Given the description of an element on the screen output the (x, y) to click on. 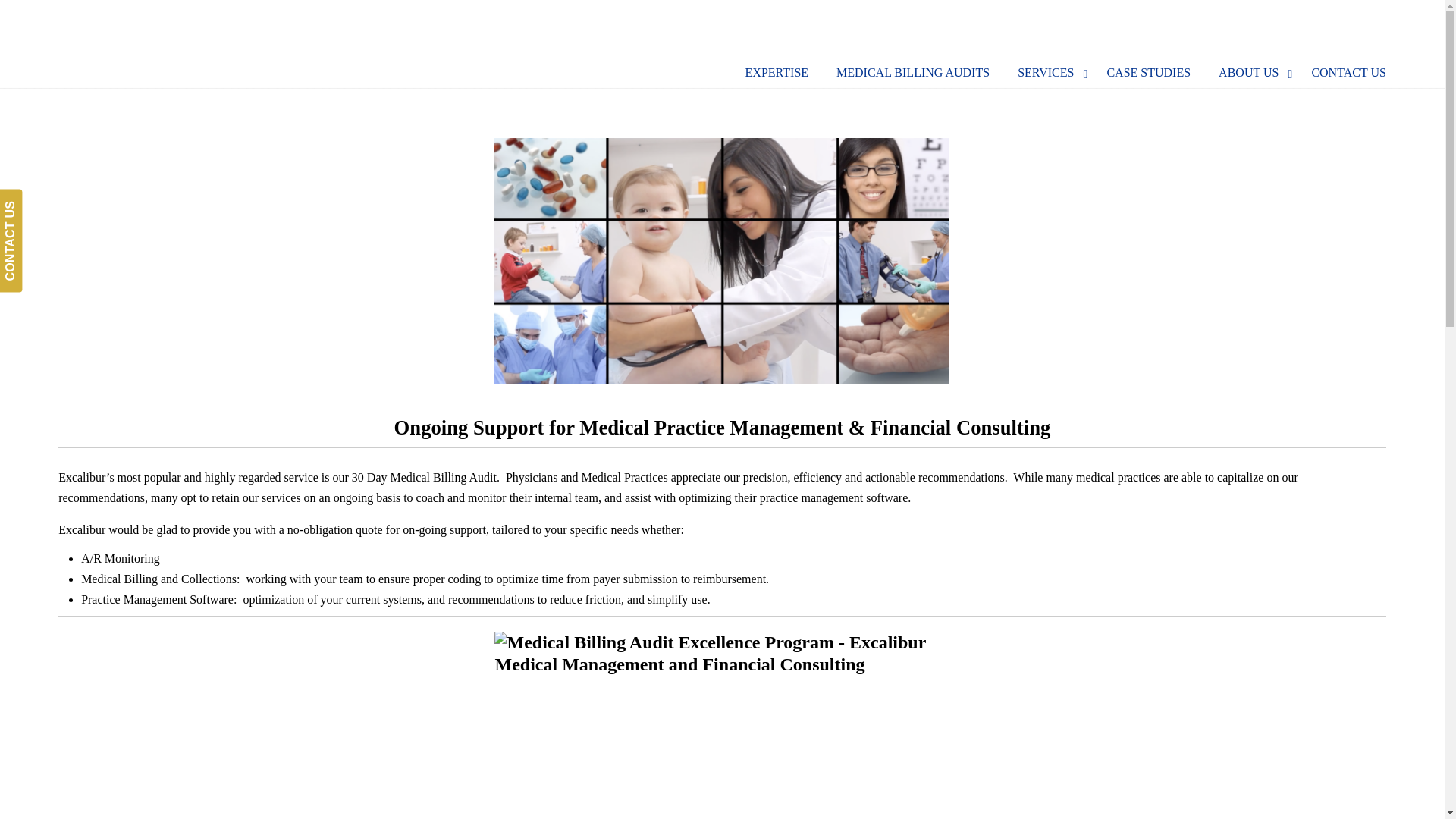
CASE STUDIES (1147, 72)
CONTACT US (1347, 72)
EXPERTISE (777, 72)
ABOUT US (1251, 72)
CONTACT US (50, 200)
MEDICAL BILLING AUDITS (912, 72)
SERVICES (1048, 72)
